Given the description of an element on the screen output the (x, y) to click on. 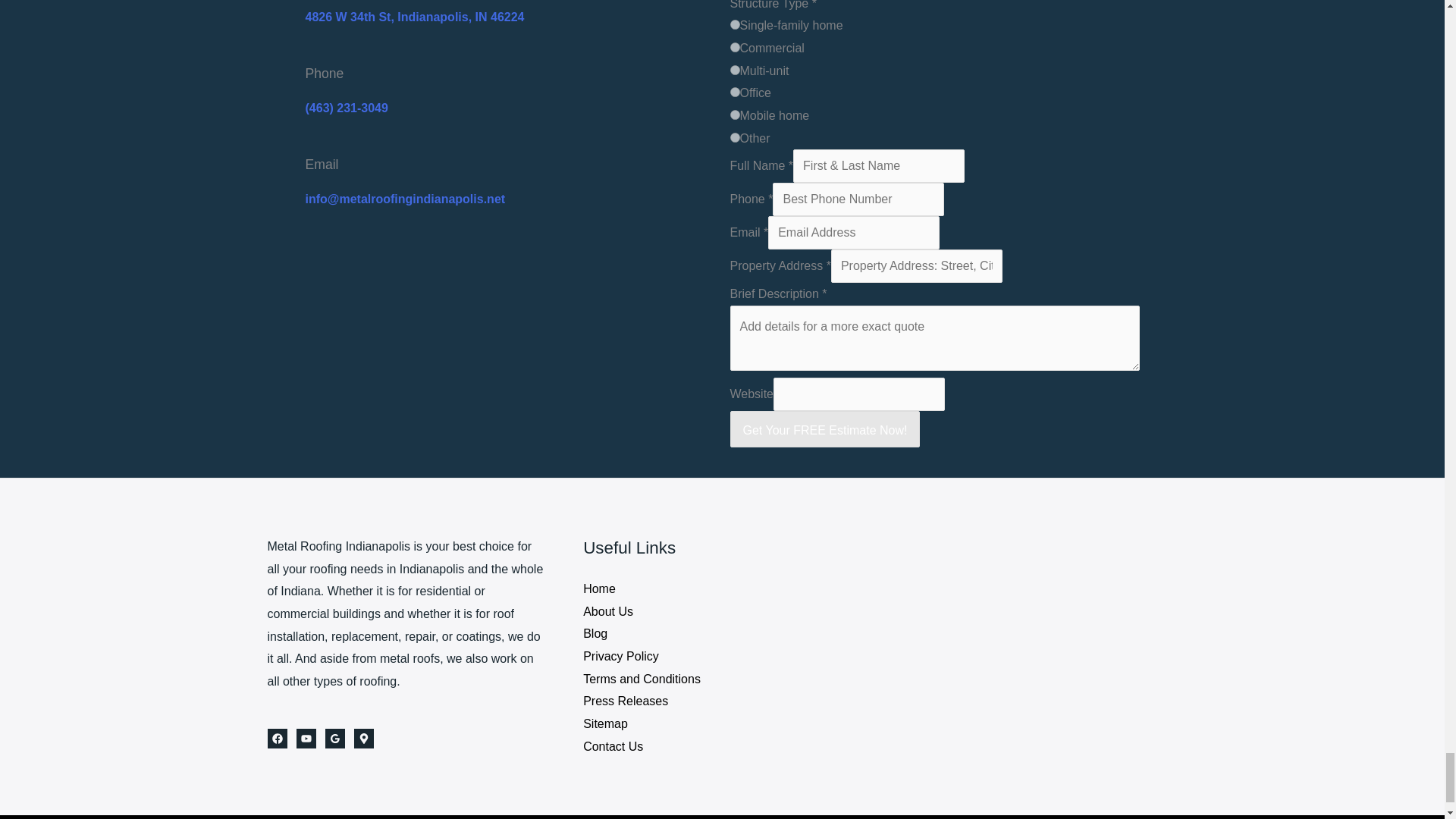
Single-family home (734, 24)
Mobile home (734, 114)
Other (734, 137)
Multi-unit (734, 70)
Commercial (734, 47)
Office (734, 91)
